Given the description of an element on the screen output the (x, y) to click on. 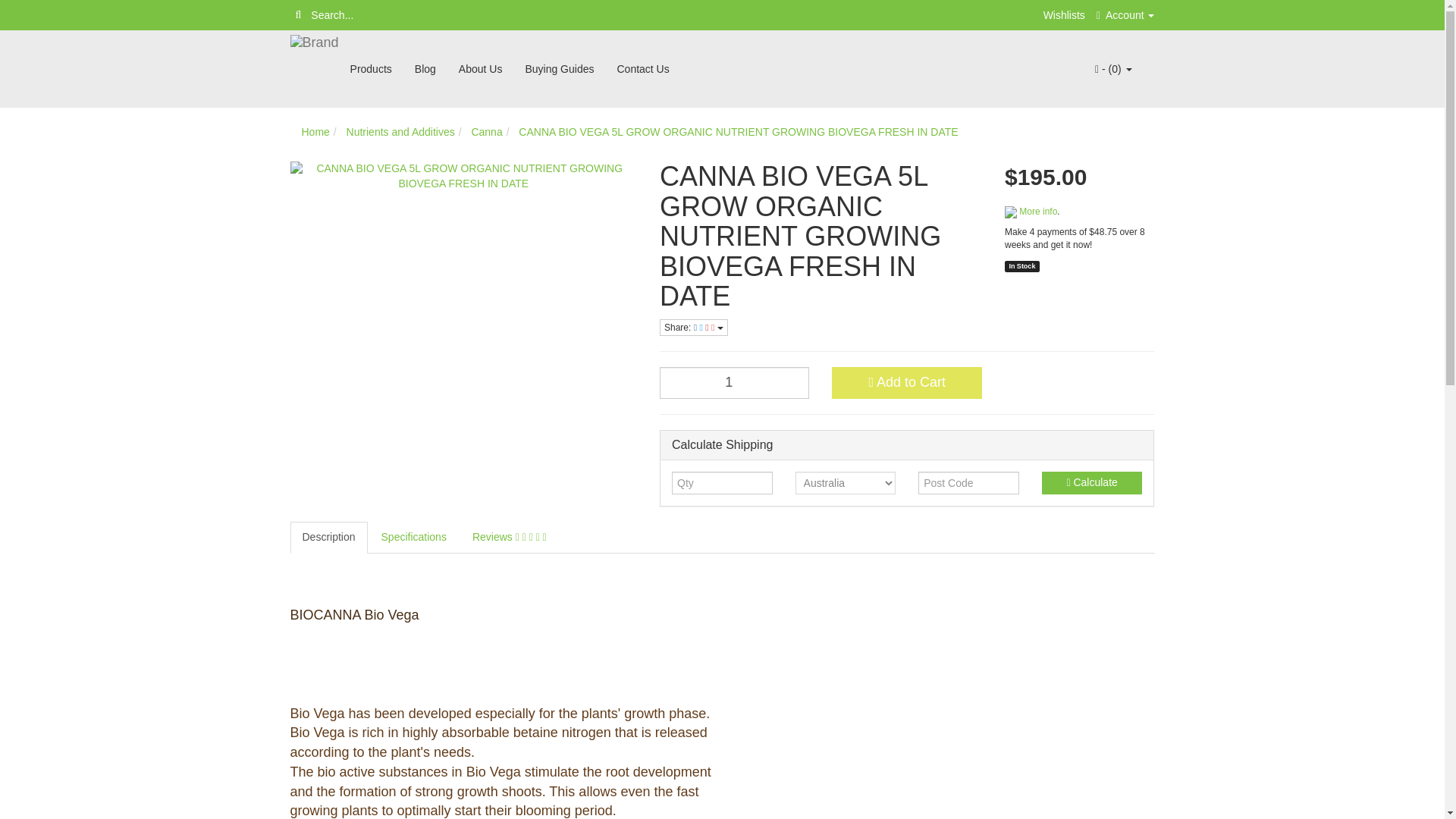
Canna (486, 132)
 Account (1125, 15)
Home (315, 132)
Contact Us (642, 69)
Nutrients and Additives (400, 132)
Share: (693, 327)
Calculate (1092, 482)
Description (327, 537)
Calculate (1092, 482)
